Given the description of an element on the screen output the (x, y) to click on. 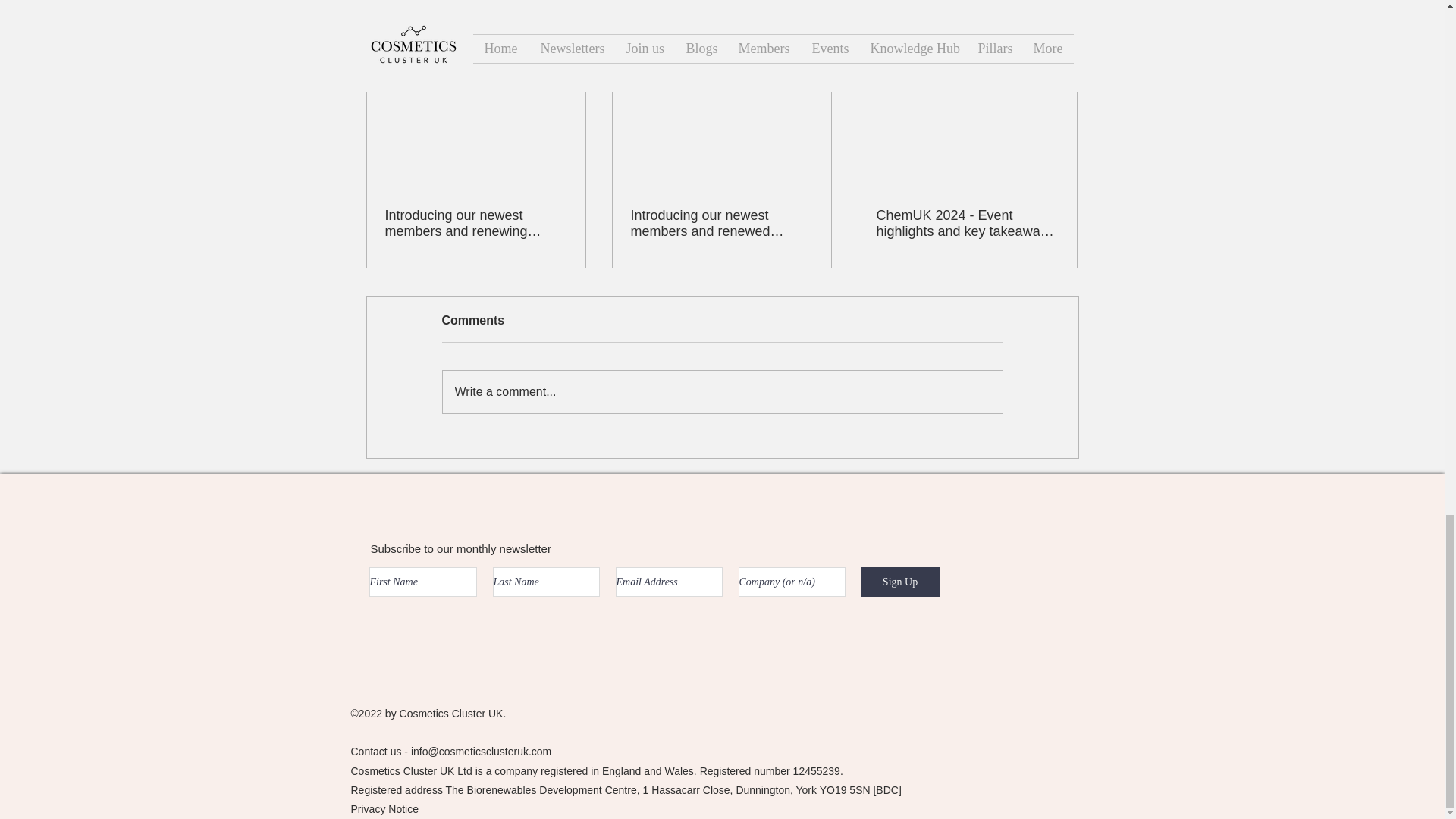
See All (1061, 39)
